Given the description of an element on the screen output the (x, y) to click on. 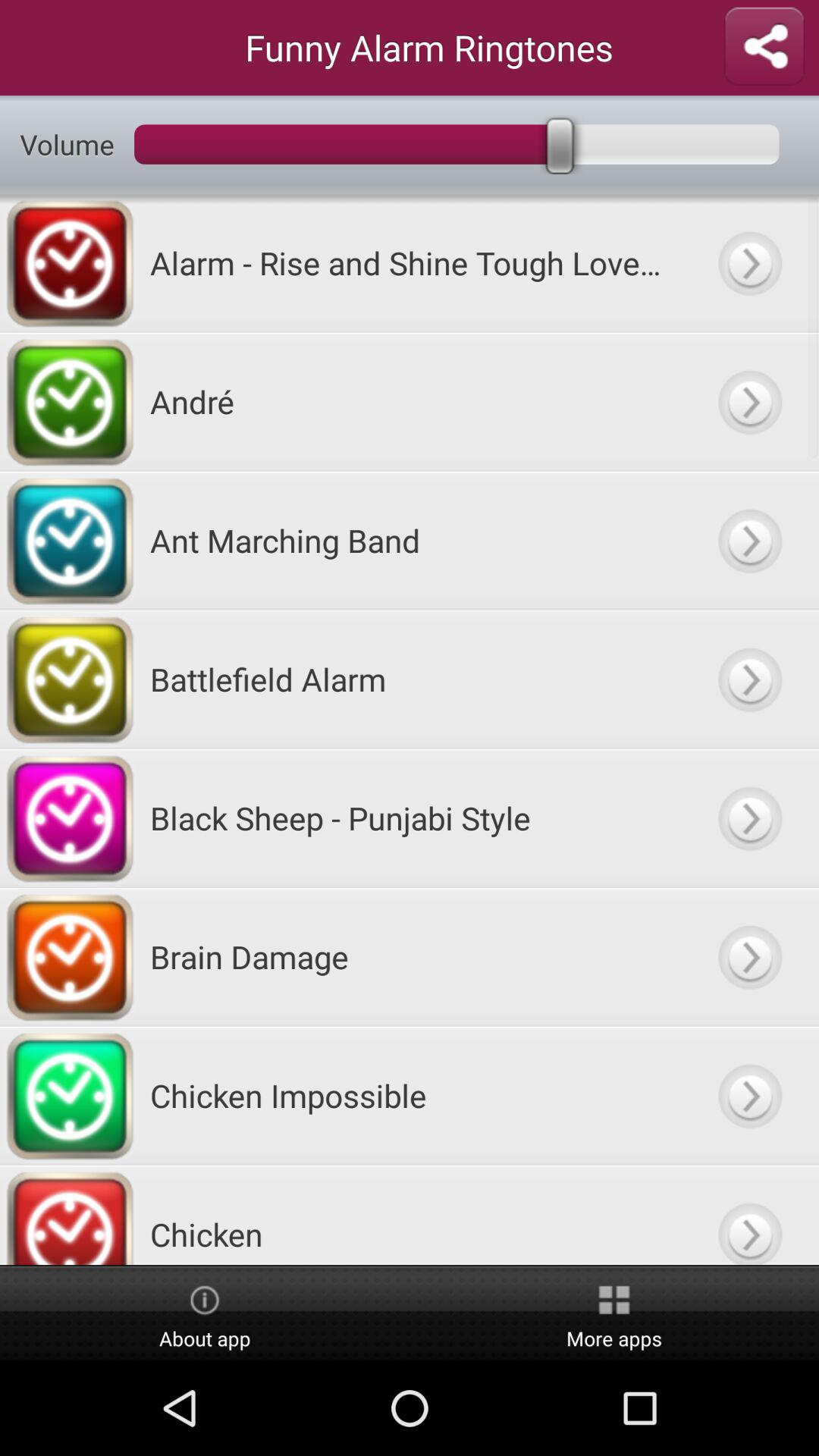
select the play option (749, 540)
